Given the description of an element on the screen output the (x, y) to click on. 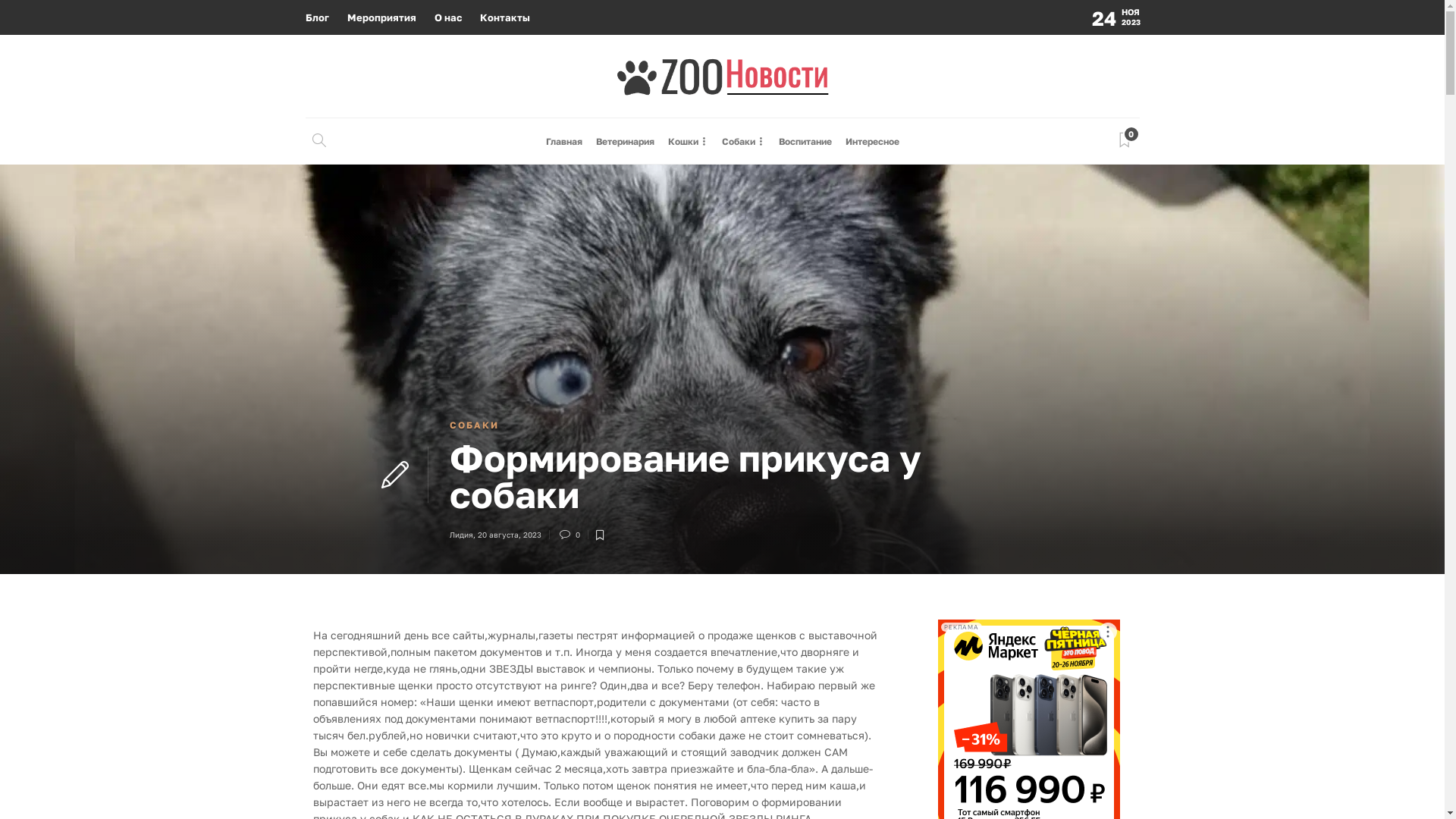
0 Element type: text (1124, 140)
0 Element type: text (572, 534)
